Given the description of an element on the screen output the (x, y) to click on. 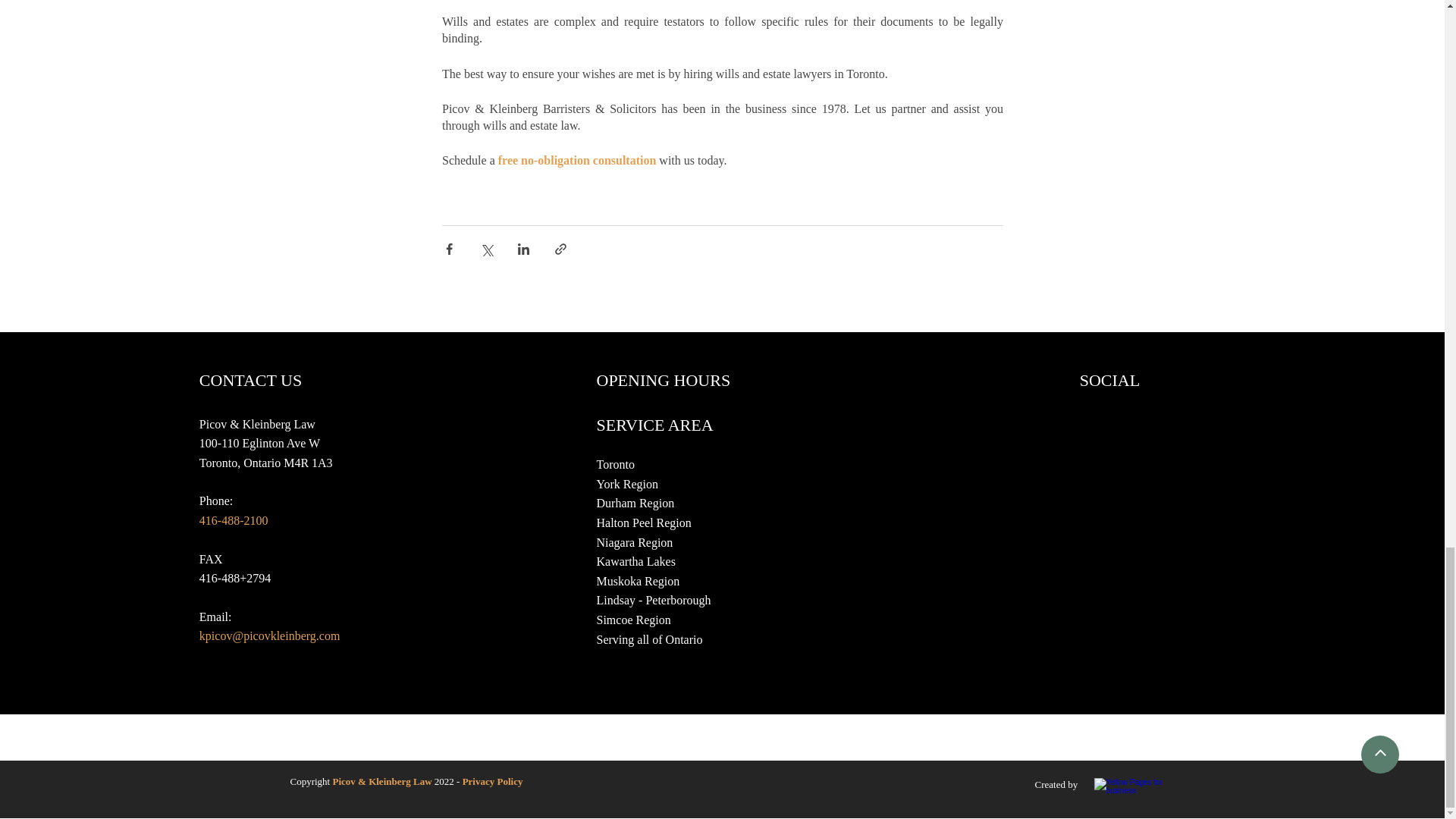
416-488-2100  (234, 520)
Privacy Policy (492, 781)
free no-obligation consultation (576, 160)
